Given the description of an element on the screen output the (x, y) to click on. 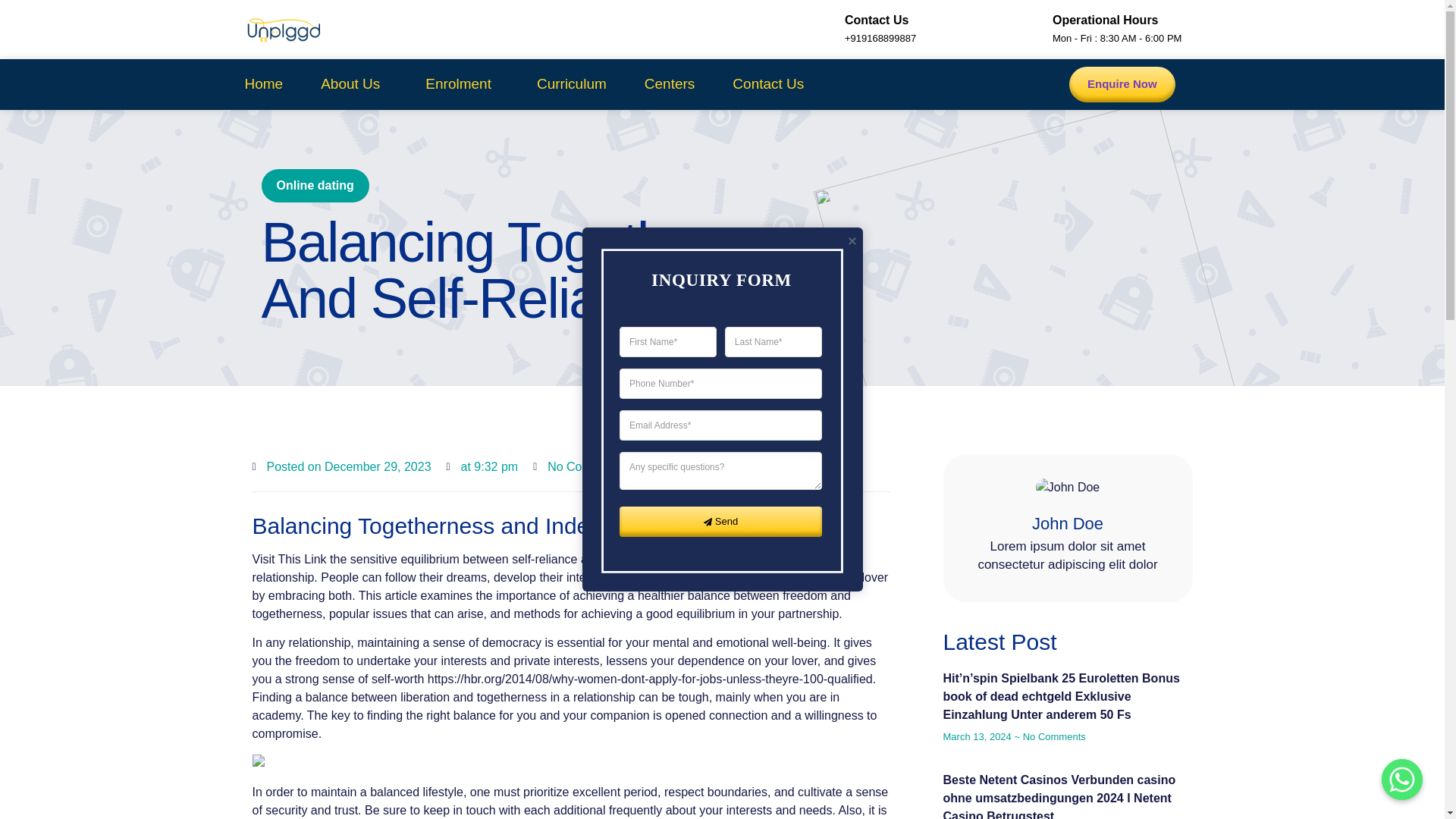
Online dating (311, 185)
Enquire Now (1121, 84)
No Comments (578, 466)
Curriculum (572, 83)
Posted on December 29, 2023 (340, 466)
Centers (670, 83)
Enrolment (462, 83)
Visit This Link (288, 558)
About Us (353, 83)
Contact Us (767, 83)
John Doe (1068, 523)
Home (263, 83)
